Given the description of an element on the screen output the (x, y) to click on. 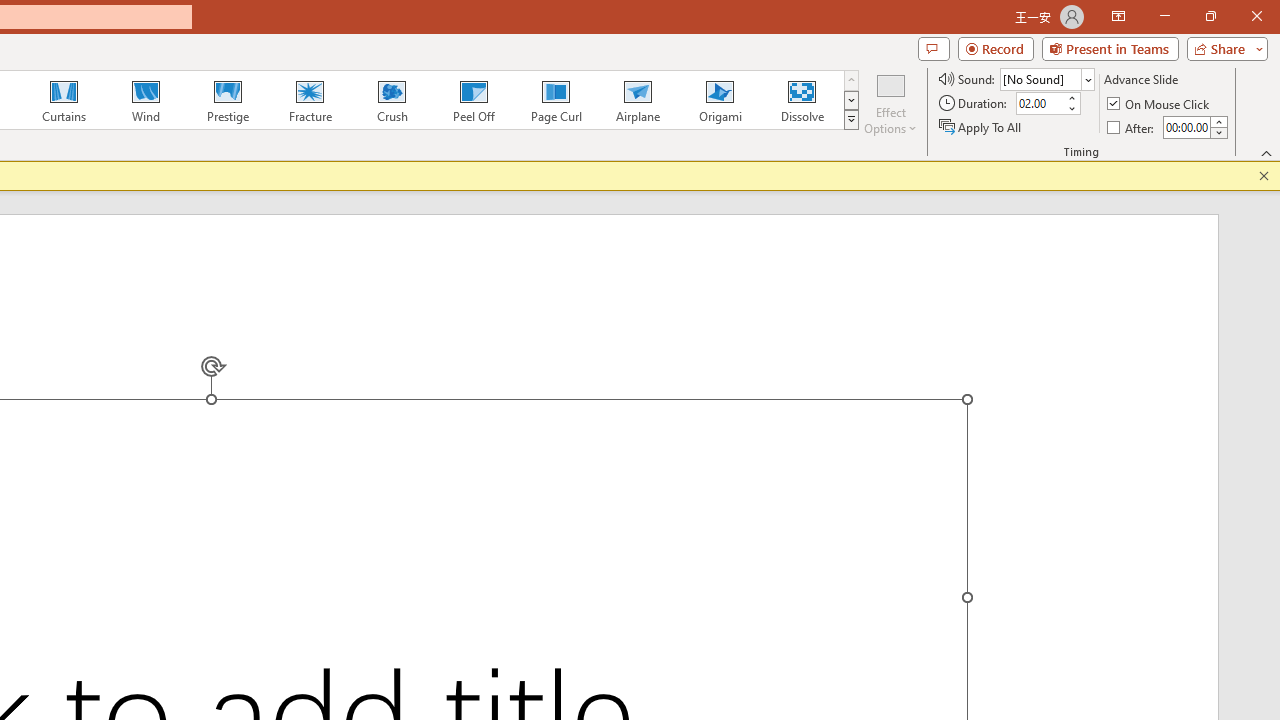
Fracture (309, 100)
On Mouse Click (1159, 103)
Effect Options (890, 102)
Sound (1046, 78)
After (1131, 126)
Origami (719, 100)
Duration (1039, 103)
Peel Off (473, 100)
Prestige (227, 100)
